Given the description of an element on the screen output the (x, y) to click on. 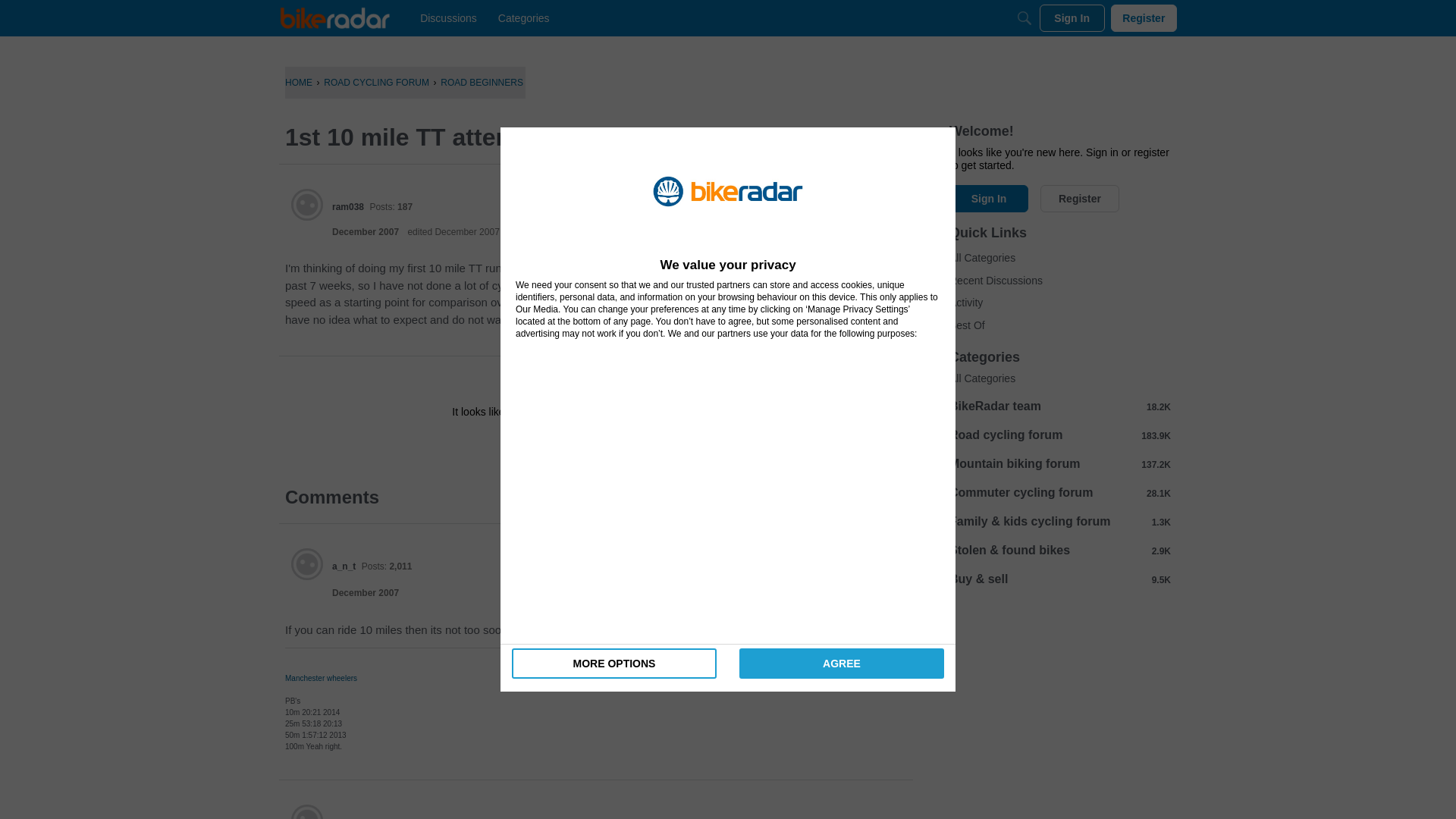
Sign In (547, 445)
December 2007 (364, 231)
Register (638, 445)
Discussions (448, 17)
ram038 (307, 204)
Categories (524, 17)
Register (1143, 17)
December 13, 2007 5:30PM (364, 593)
Manchester wheelers (320, 678)
Search (1024, 17)
CarlosFerreiro (307, 811)
ram038 (347, 206)
ROAD BEGINNERS (481, 81)
CarlosFerreiro (362, 818)
December 2007 (364, 593)
